Given the description of an element on the screen output the (x, y) to click on. 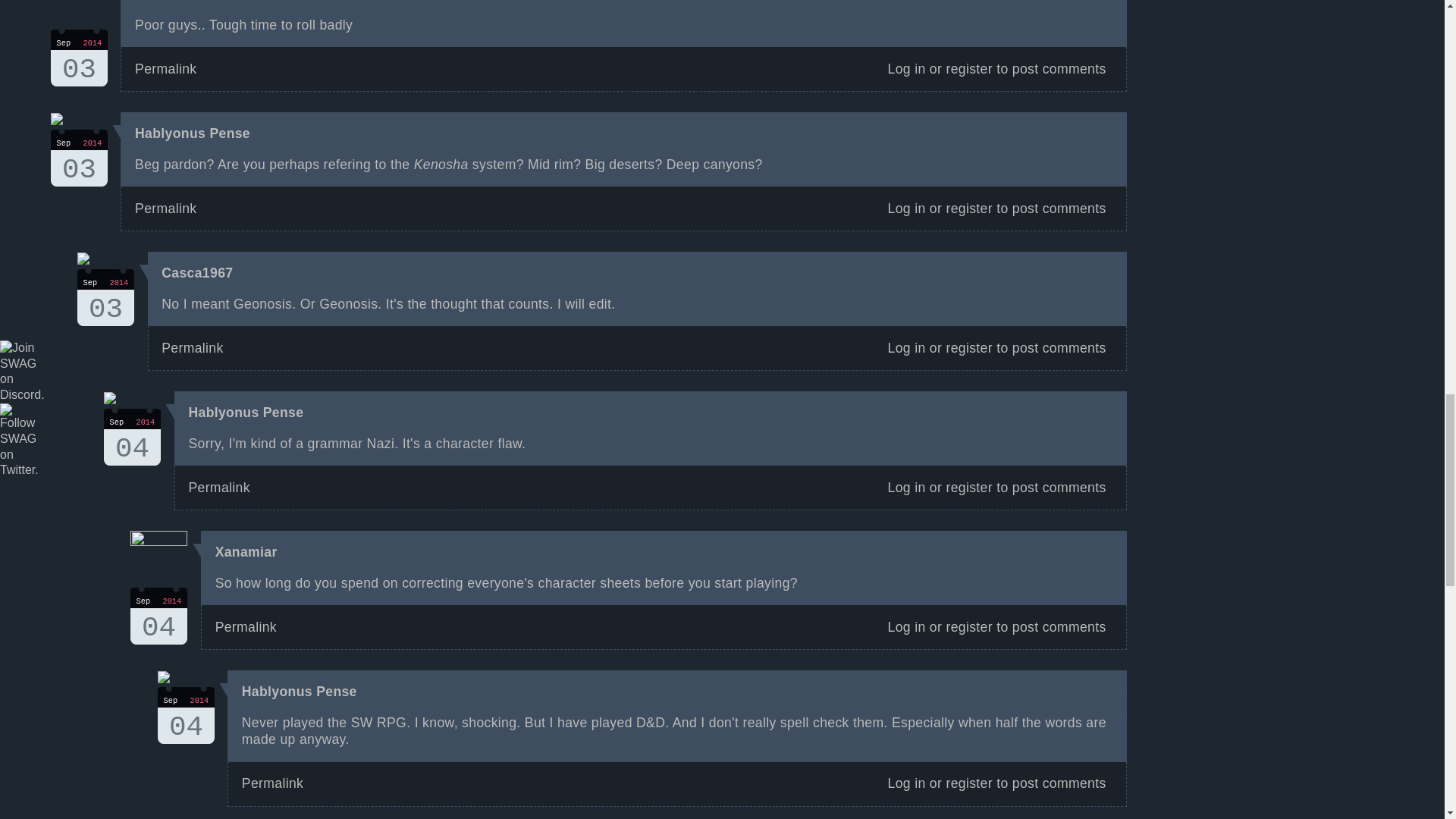
Log in (78, 57)
Xanamiar (907, 347)
View user profile. (165, 0)
Xanamiar (185, 715)
register (165, 0)
View user profile. (246, 551)
Log in (967, 68)
Casca1967 (246, 551)
View user profile. (907, 208)
register (196, 272)
Log in (196, 272)
register (967, 347)
Permalink (907, 487)
